Given the description of an element on the screen output the (x, y) to click on. 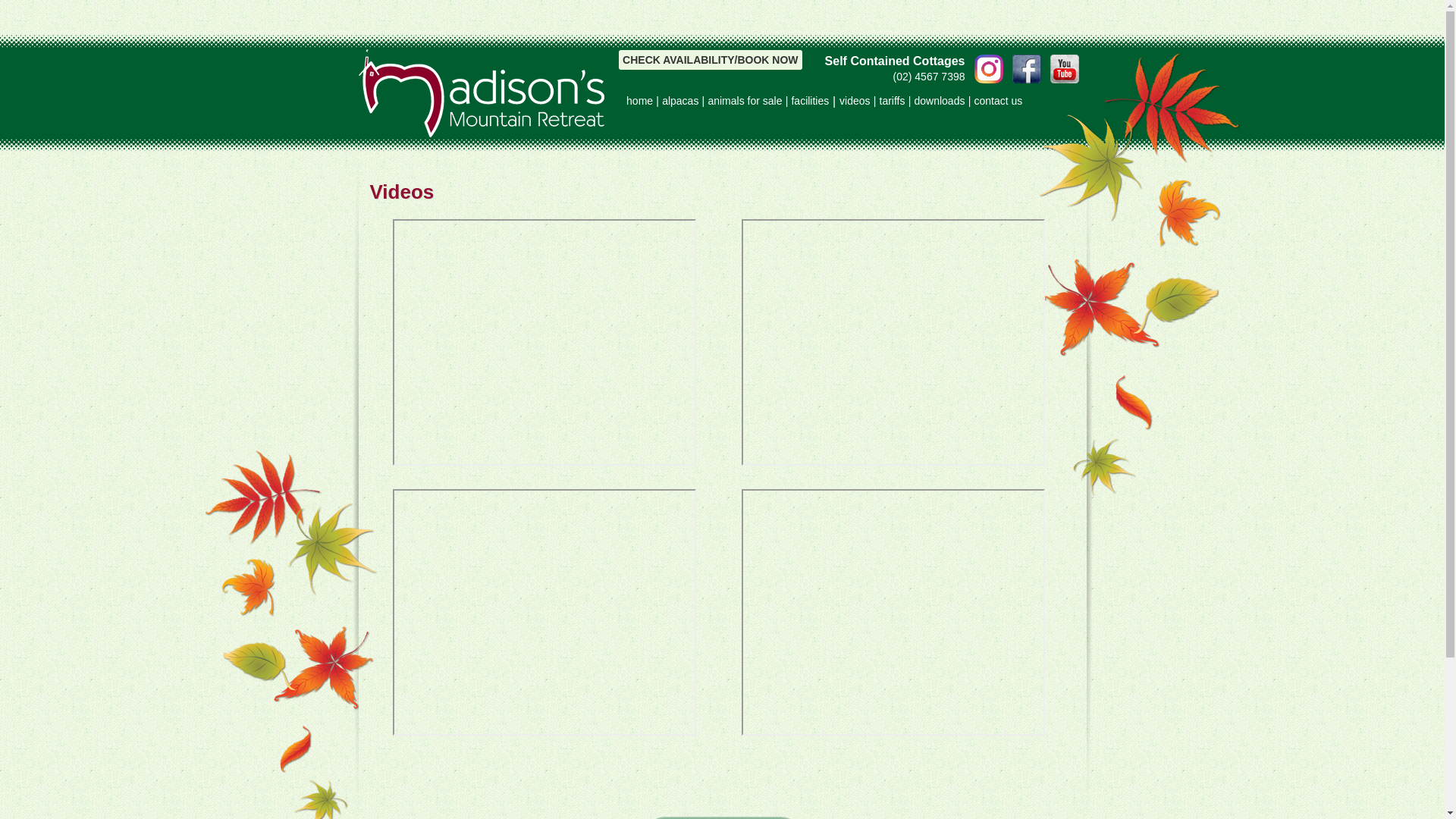
CHECK AVAILABILITY/BOOK NOW Element type: text (710, 59)
home Element type: text (639, 100)
videos Element type: text (854, 100)
animals for sale Element type: text (744, 100)
downloads Element type: text (939, 100)
tariffs Element type: text (892, 100)
(02) 4567 7398 Element type: text (791, 76)
contact us Element type: text (997, 100)
alpacas Element type: text (680, 100)
facilities Element type: text (809, 100)
